Given the description of an element on the screen output the (x, y) to click on. 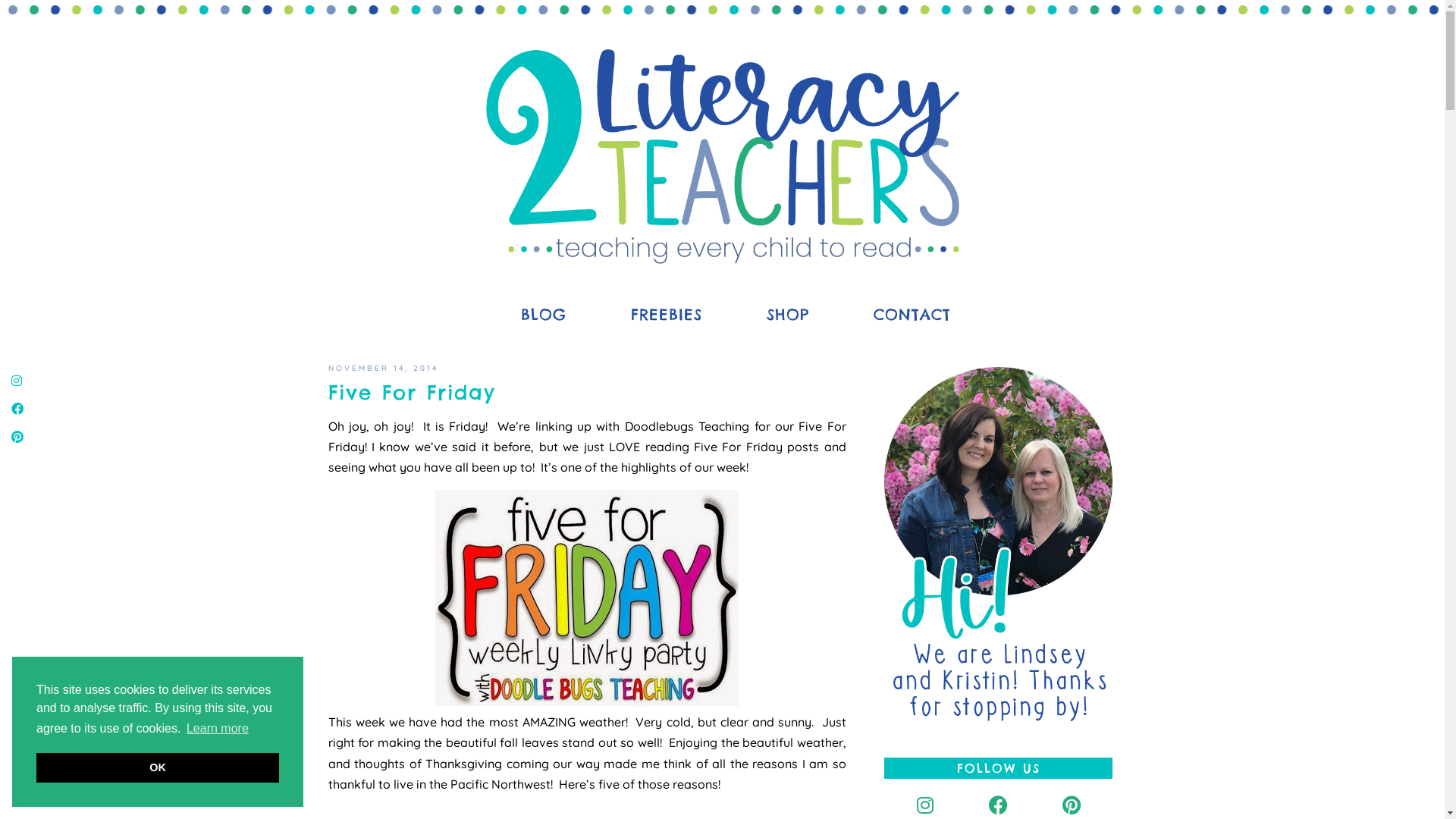
FREEBIES Element type: text (653, 314)
CONTACT Element type: text (898, 314)
Learn more Element type: text (217, 728)
SHOP Element type: text (773, 314)
BLOG Element type: text (529, 314)
2 Literacy Teachers Element type: hover (721, 156)
OK Element type: text (157, 767)
